Given the description of an element on the screen output the (x, y) to click on. 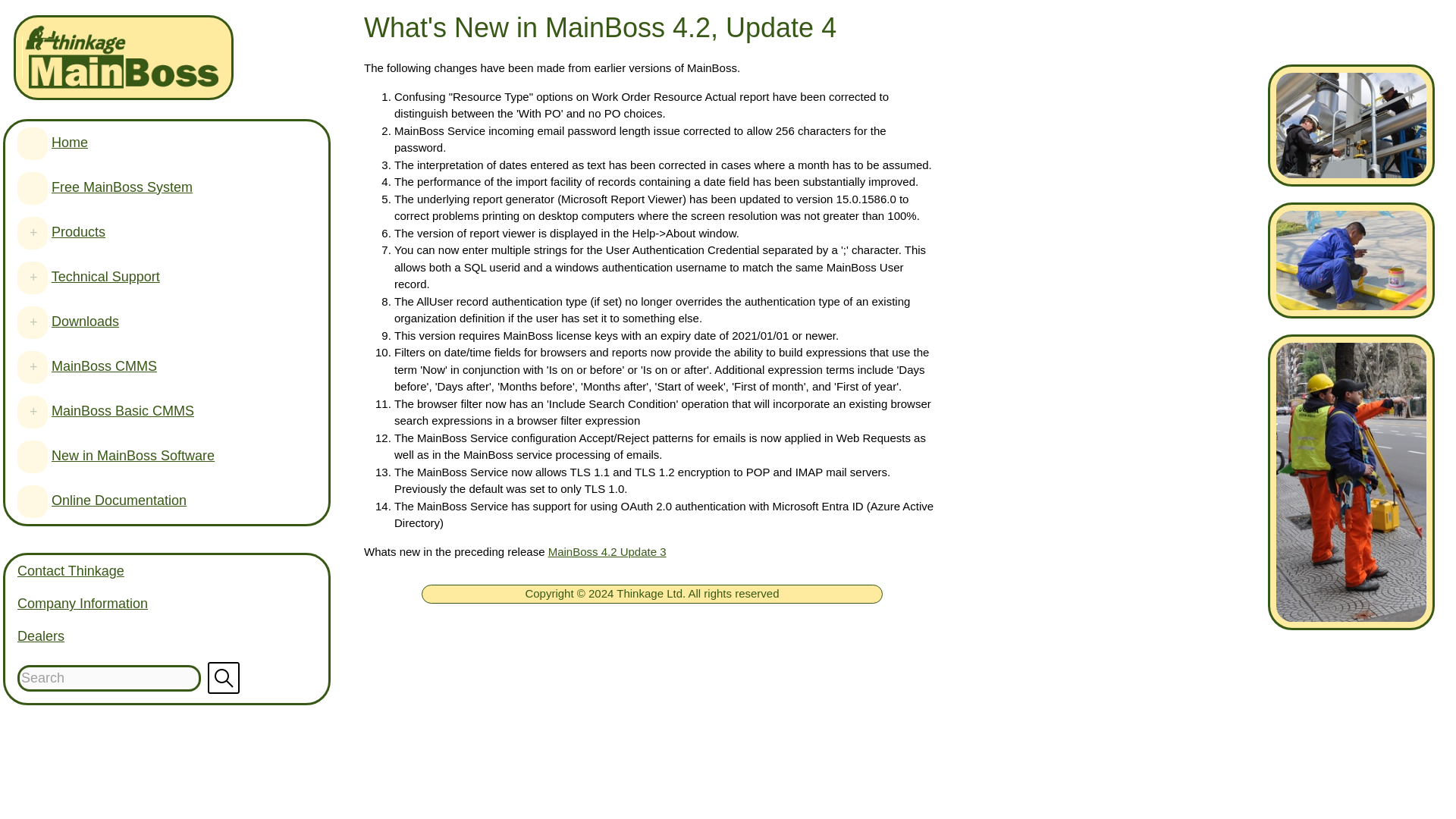
Free MainBoss System (68, 186)
Products (50, 231)
Technical Support (105, 276)
